Given the description of an element on the screen output the (x, y) to click on. 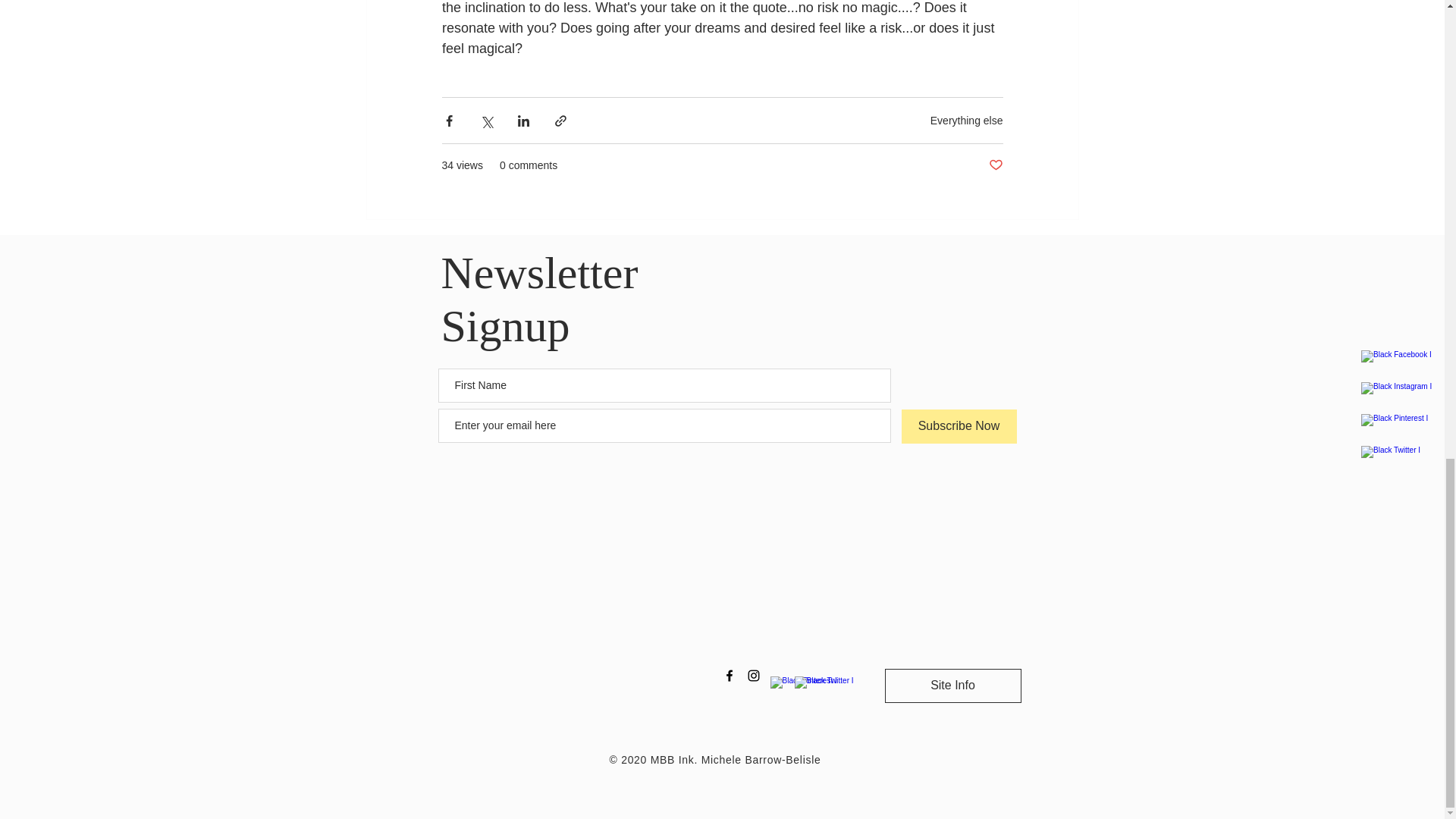
Site Info (951, 685)
Post not marked as liked (995, 165)
Everything else (966, 119)
Subscribe Now (958, 426)
